Given the description of an element on the screen output the (x, y) to click on. 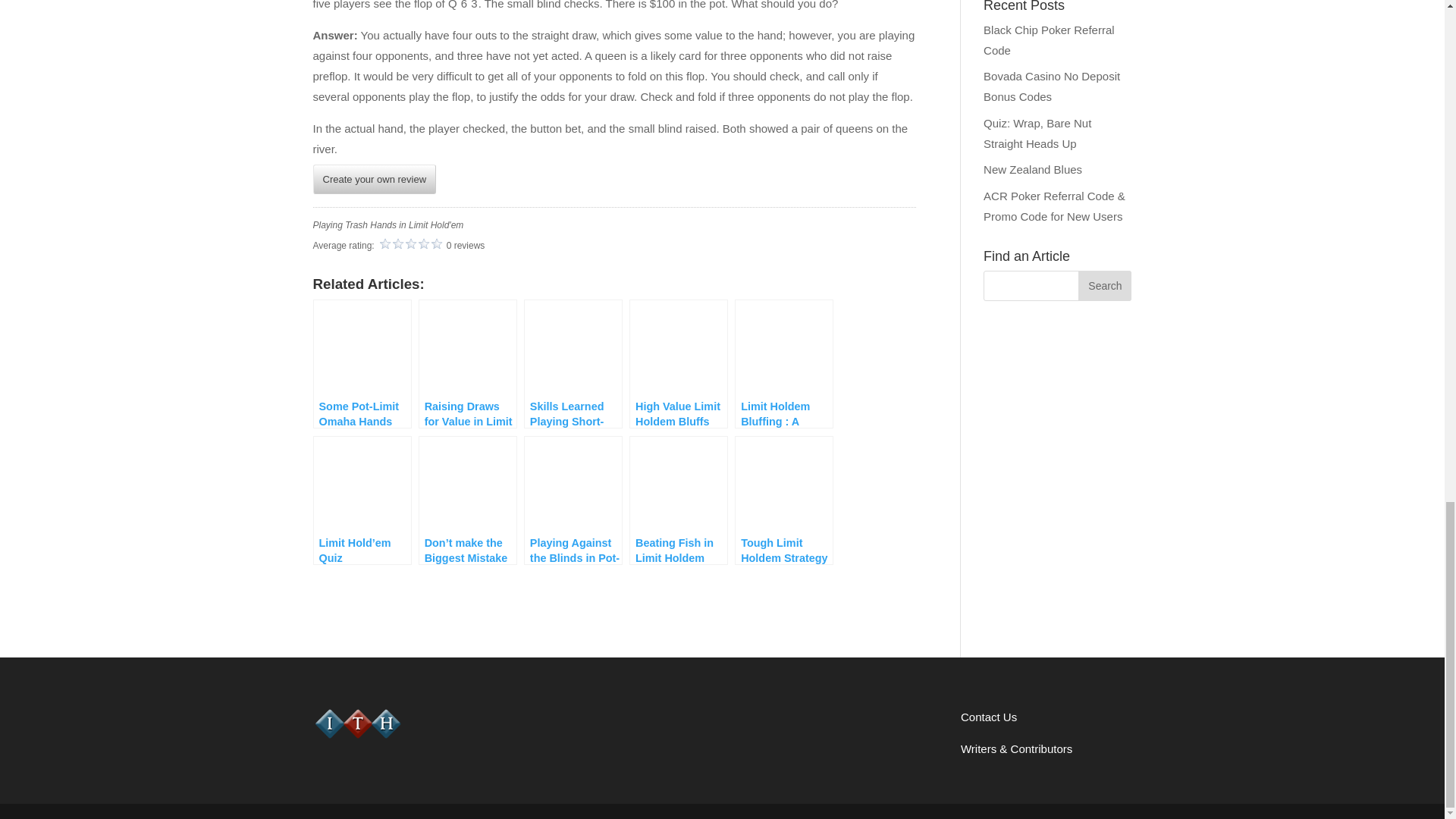
Search (1104, 286)
